Given the description of an element on the screen output the (x, y) to click on. 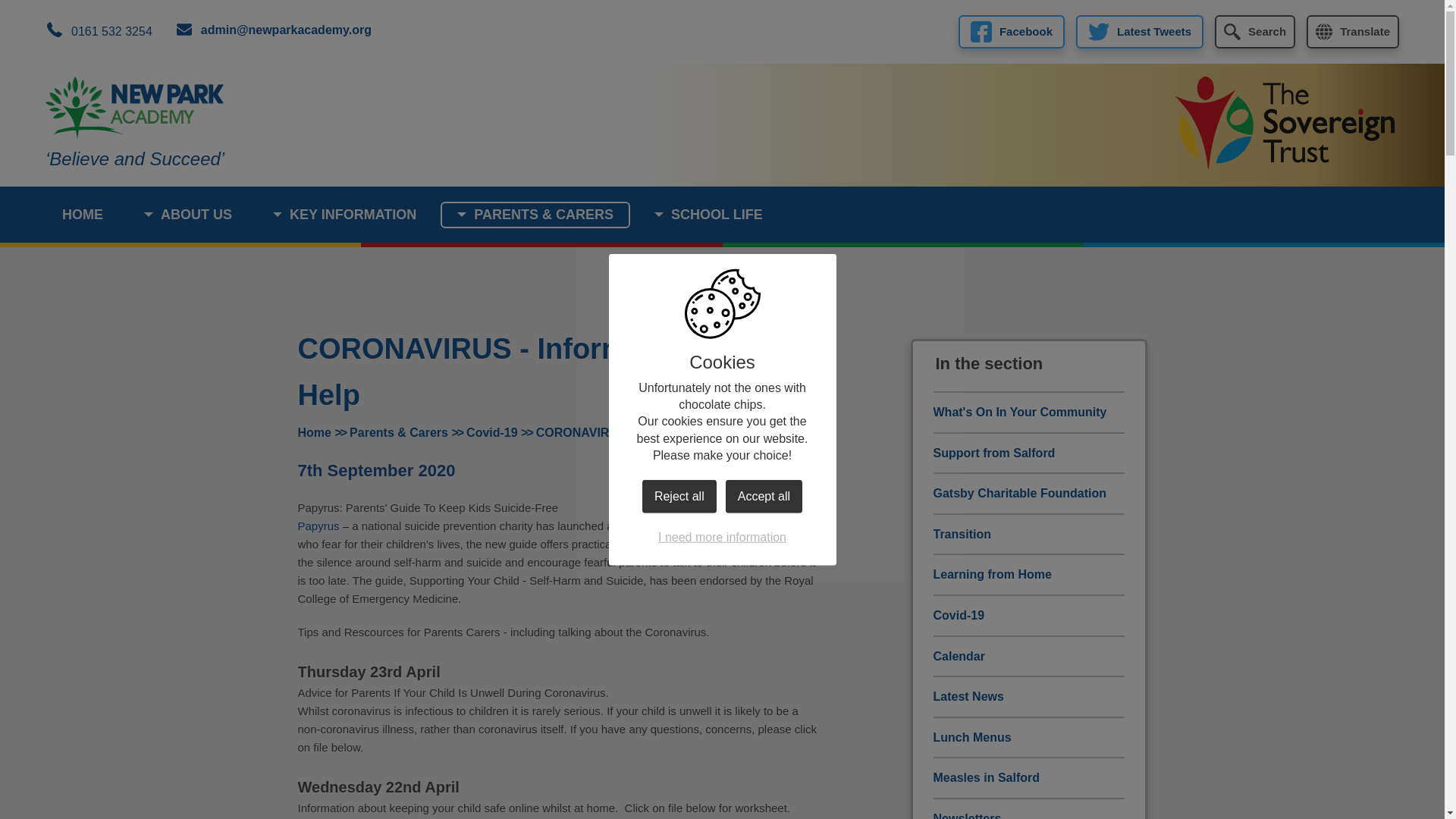
The Sovereign Trust (1285, 122)
The Sovereign Trust (1285, 124)
ABOUT US (188, 214)
0161 532 3254 (98, 31)
Home Page (134, 107)
HOME (82, 214)
Latest Tweets (1139, 31)
KEY INFORMATION (344, 214)
Facebook (1011, 31)
